Given the description of an element on the screen output the (x, y) to click on. 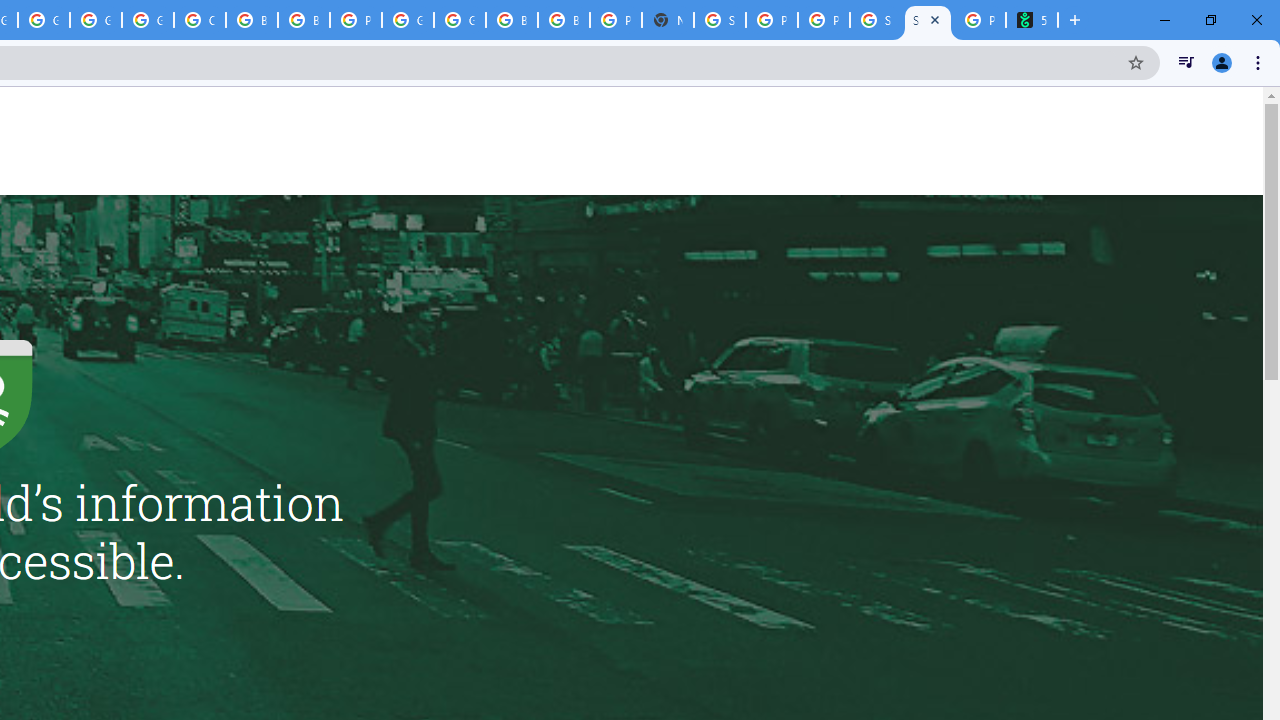
Browse Chrome as a guest - Computer - Google Chrome Help (251, 20)
Sign in - Google Accounts (719, 20)
